Given the description of an element on the screen output the (x, y) to click on. 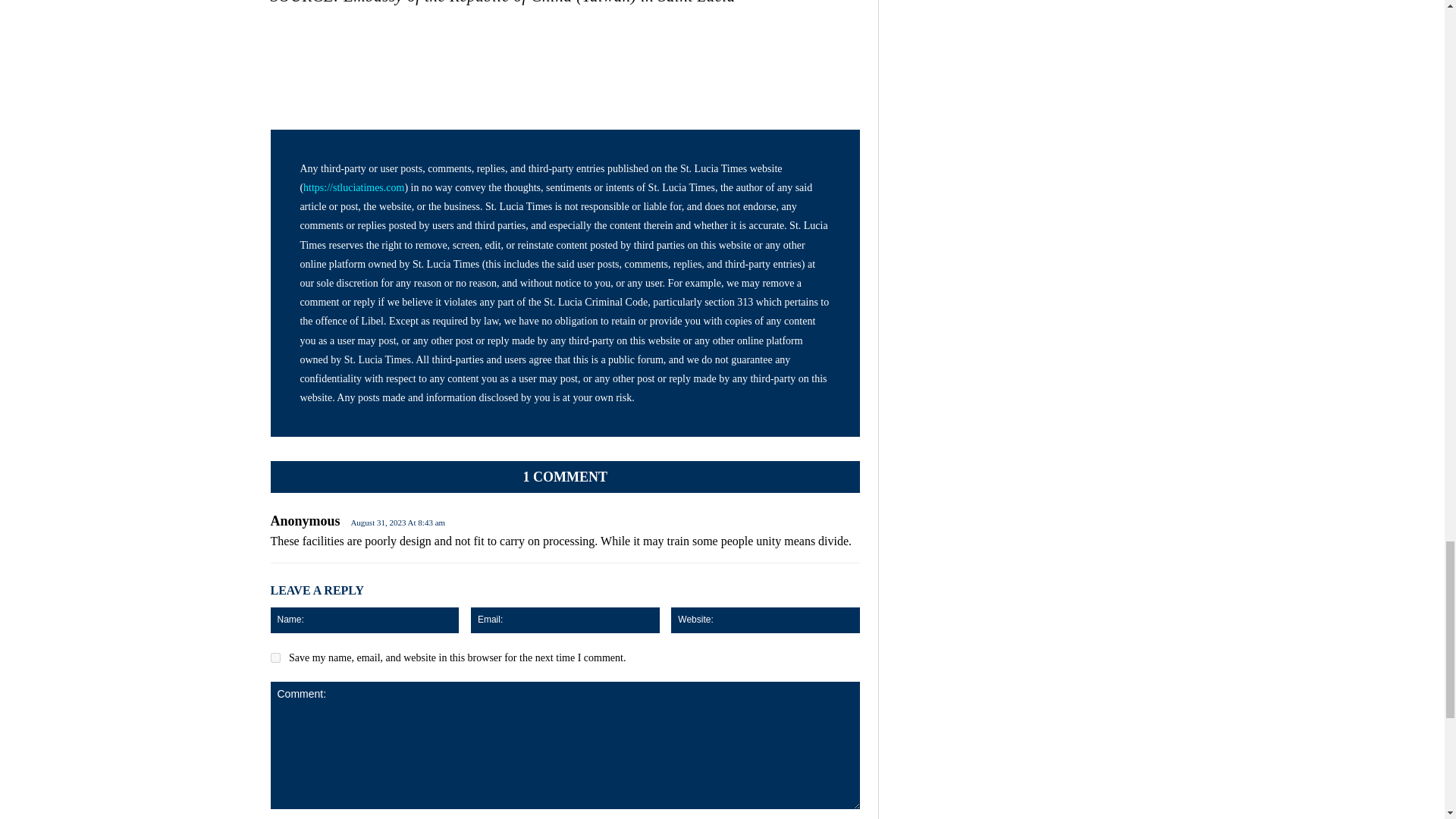
yes (274, 657)
